Given the description of an element on the screen output the (x, y) to click on. 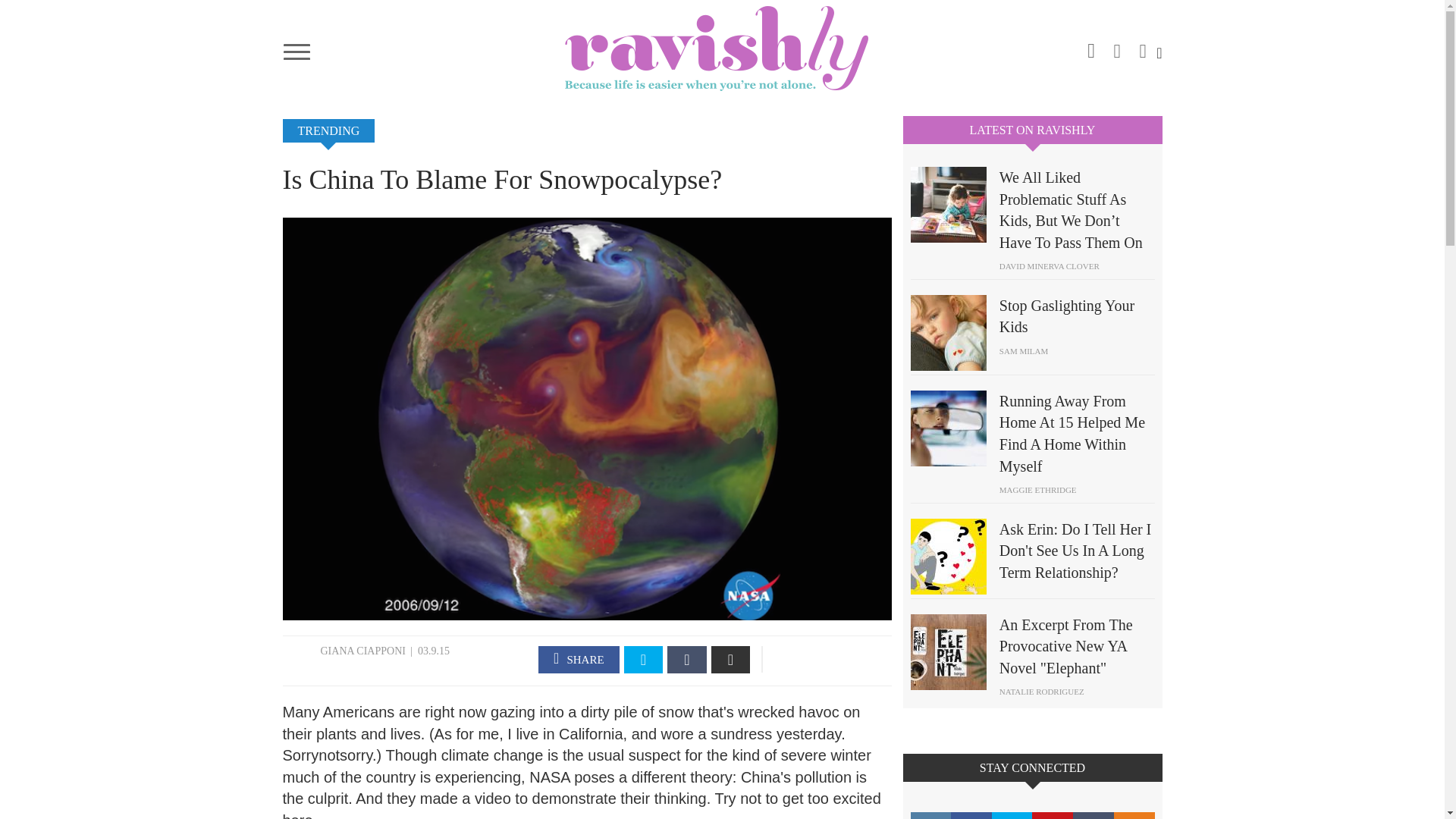
Toggle navigation (296, 47)
Tumblr (686, 659)
twitter (1142, 46)
SHARE (579, 659)
Home (721, 47)
facebook (1117, 46)
twitter (643, 659)
Email (731, 659)
instagram (930, 815)
facebook (579, 659)
TRENDING (328, 130)
instagram (1090, 48)
CIAPPONI (381, 650)
GIANA (338, 650)
